Given the description of an element on the screen output the (x, y) to click on. 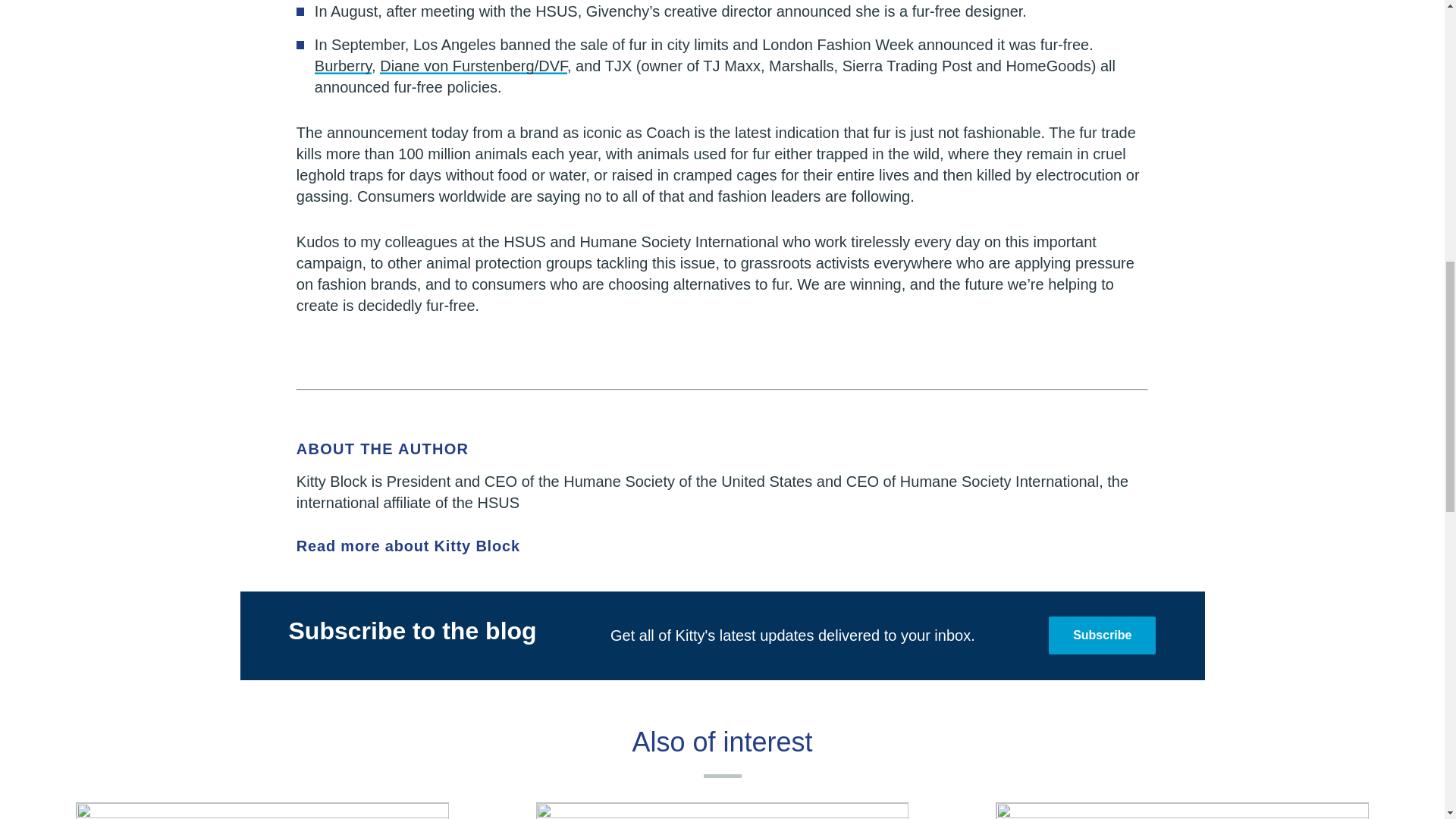
Read more about Kitty Block (722, 546)
Burberry (342, 65)
Subscribe (1102, 635)
